Given the description of an element on the screen output the (x, y) to click on. 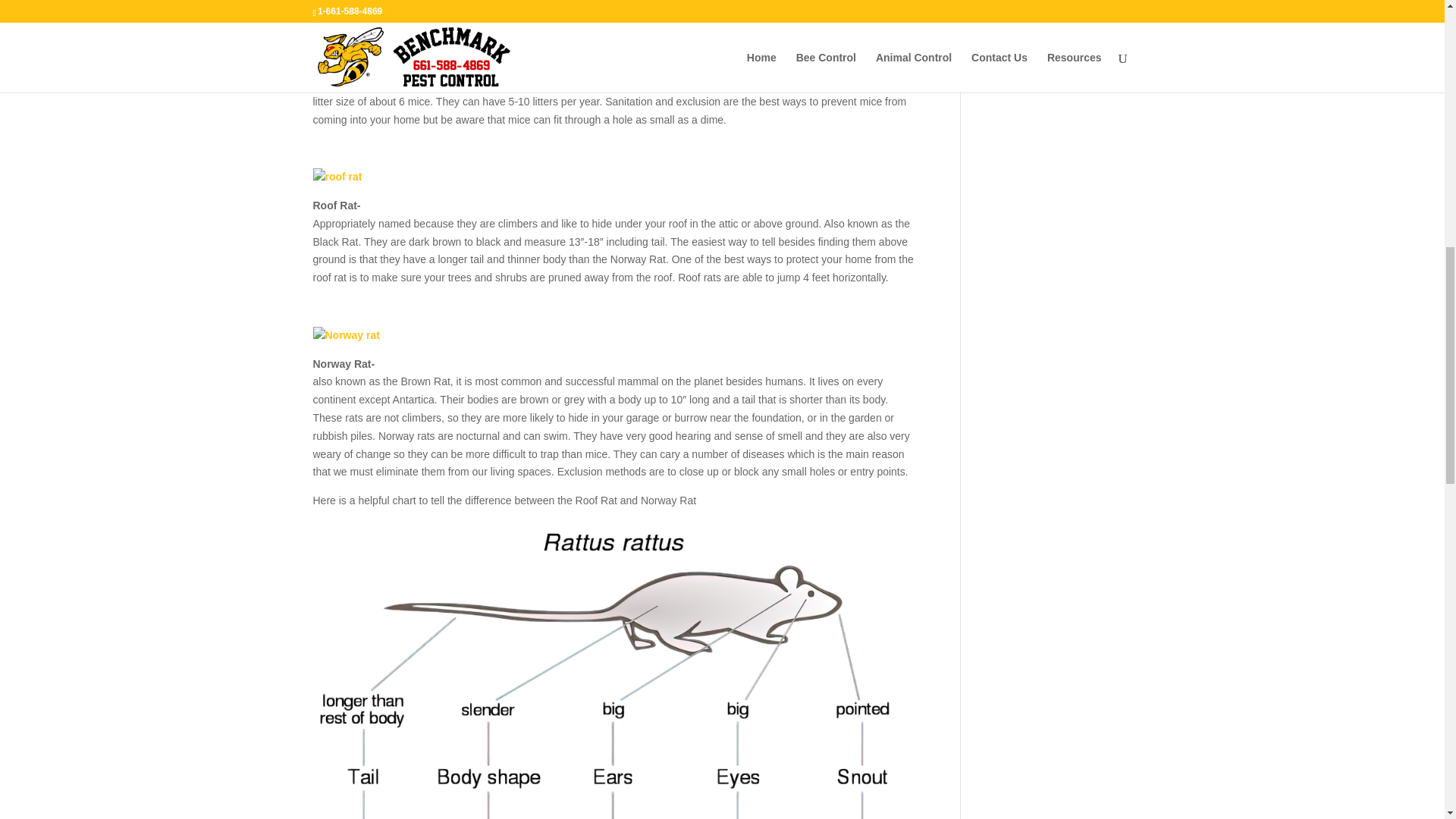
Rodents in Bakersfield (345, 335)
Rodents in Bakersfield (337, 177)
